Given the description of an element on the screen output the (x, y) to click on. 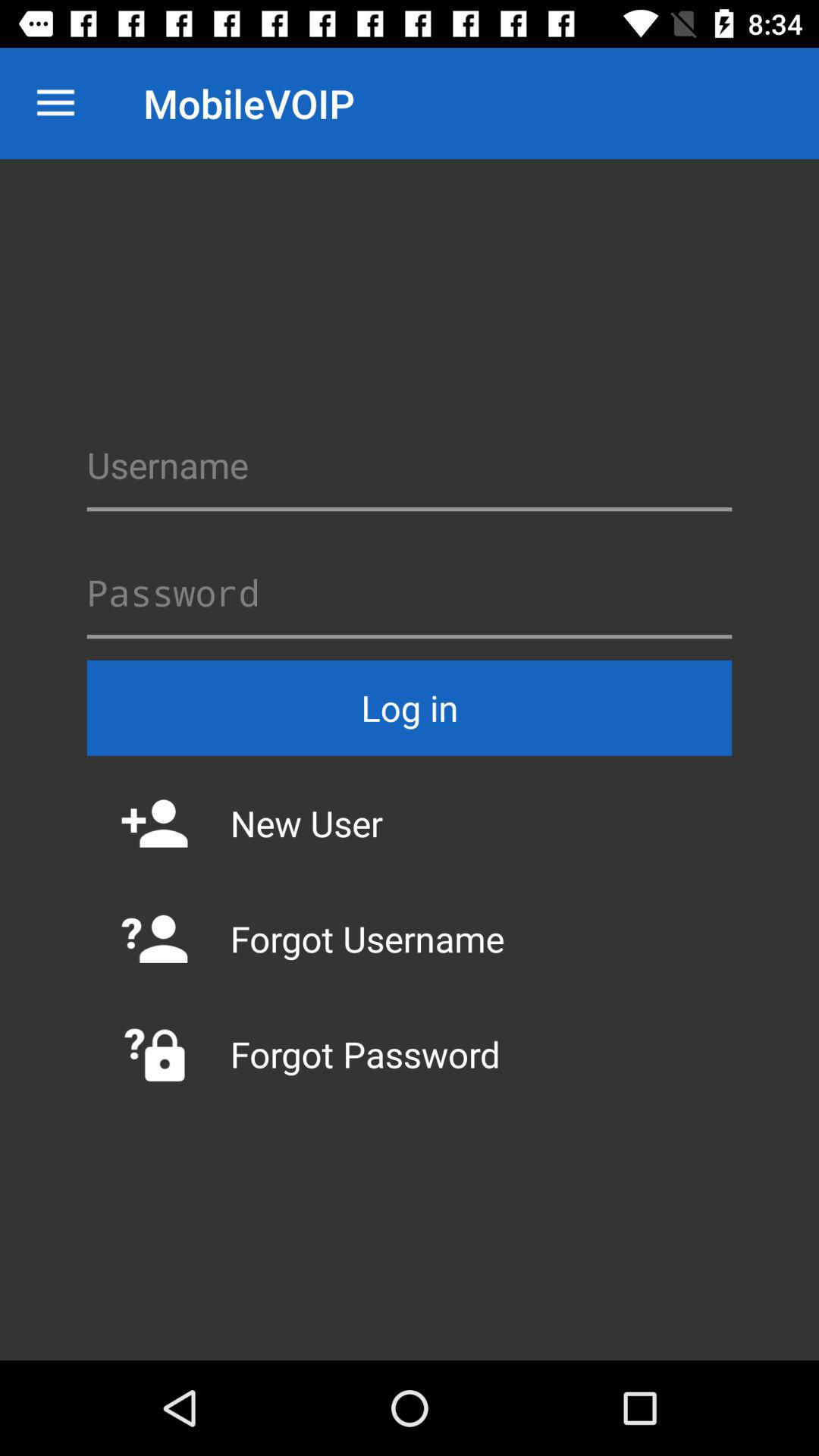
launch the item below forgot username (409, 1054)
